Given the description of an element on the screen output the (x, y) to click on. 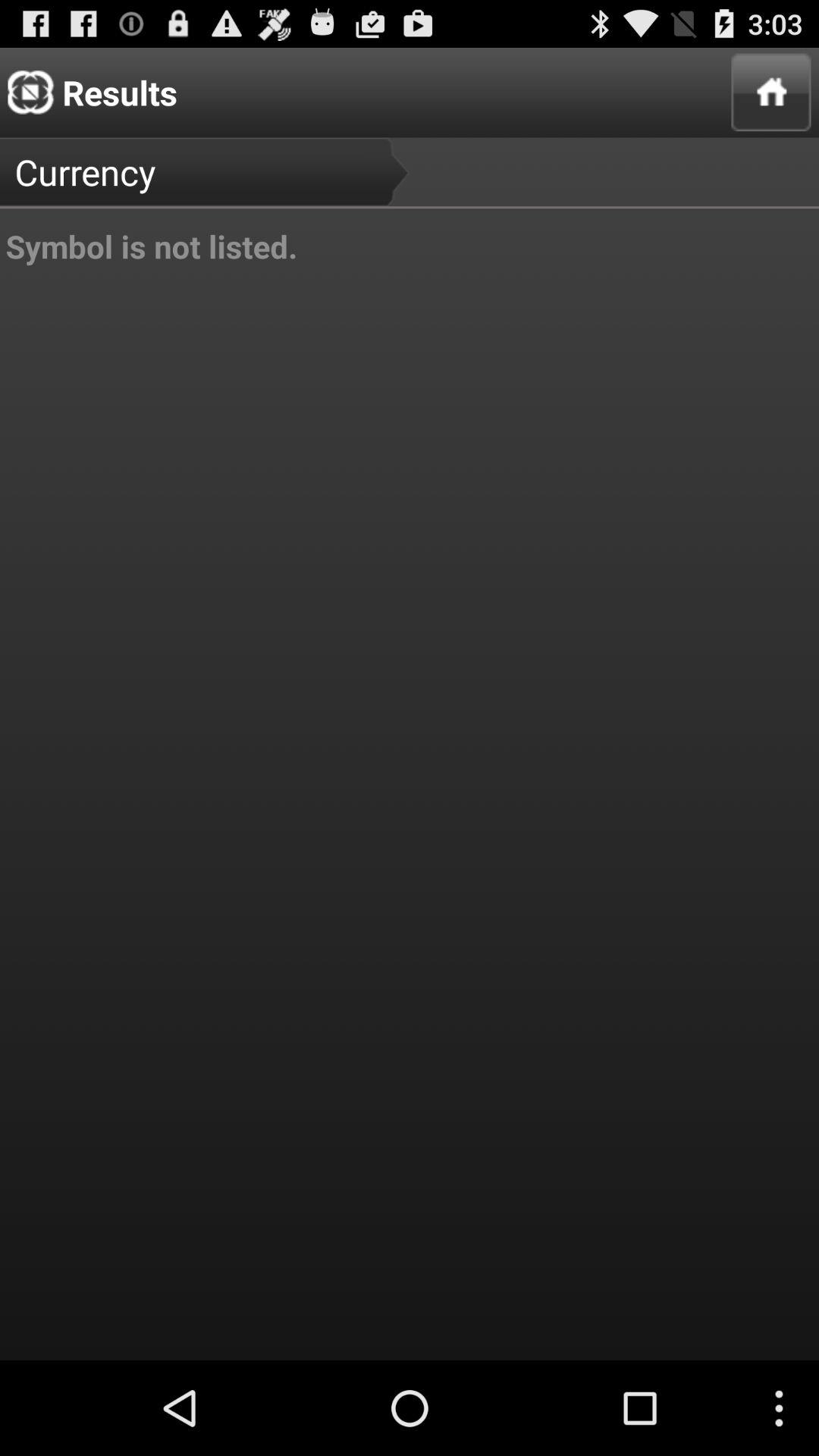
turn on app to the right of currency icon (771, 92)
